Given the description of an element on the screen output the (x, y) to click on. 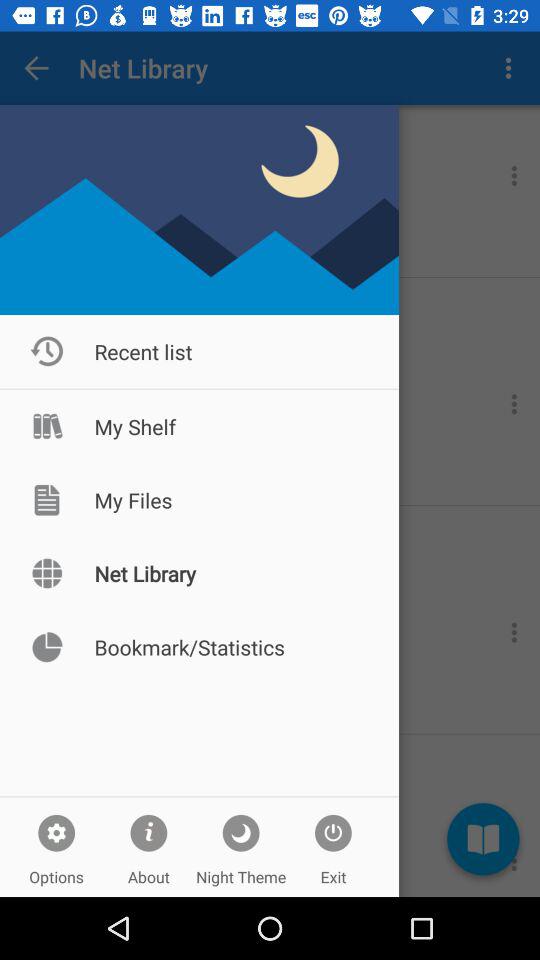
select net library option (47, 574)
